Given the description of an element on the screen output the (x, y) to click on. 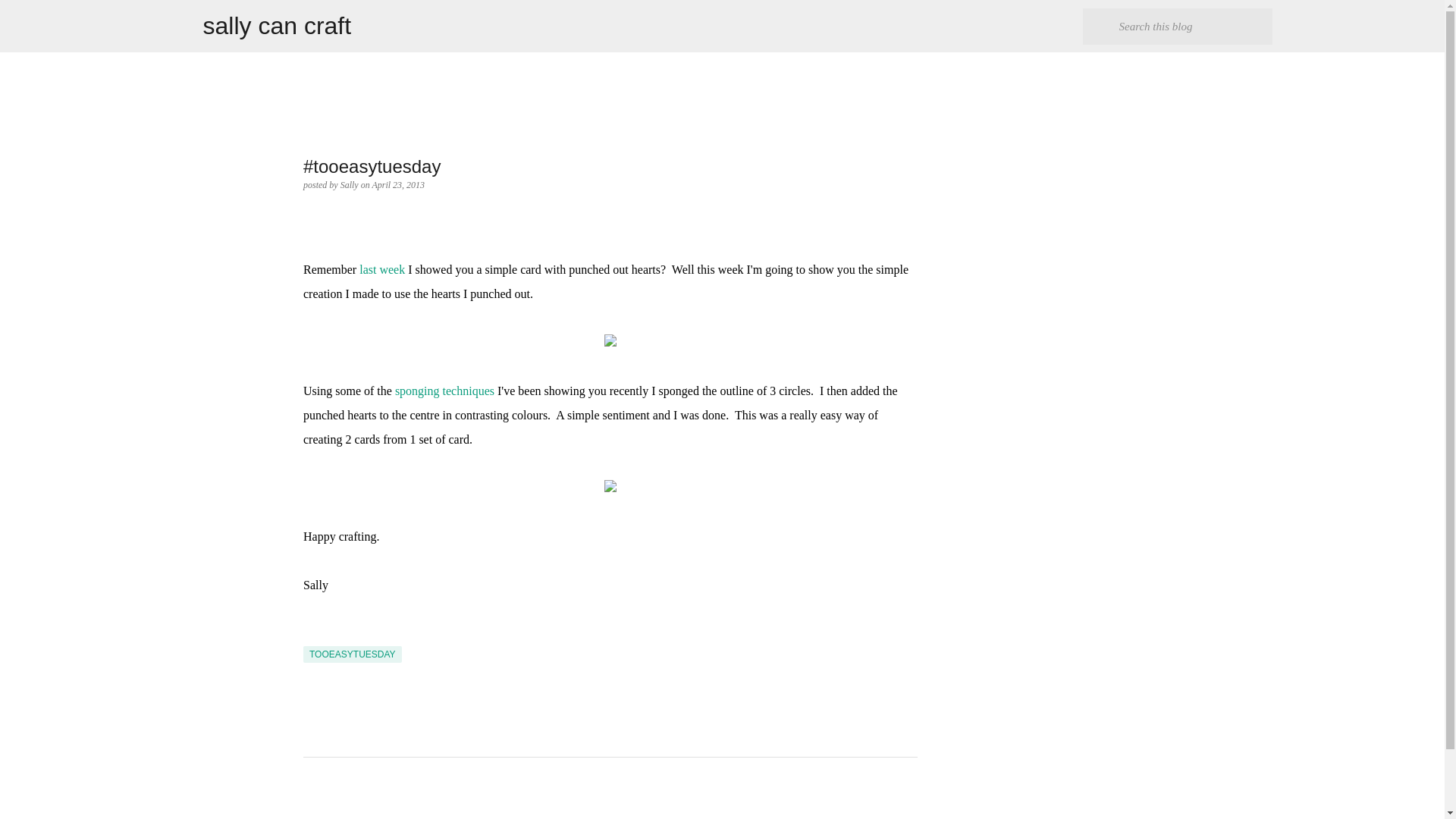
Email Post (311, 636)
TOOEASYTUESDAY (351, 654)
author profile (350, 184)
last week (381, 269)
Sally (350, 184)
sponging techniques (444, 390)
April 23, 2013 (398, 184)
permanent link (398, 184)
sally can craft (277, 25)
